Given the description of an element on the screen output the (x, y) to click on. 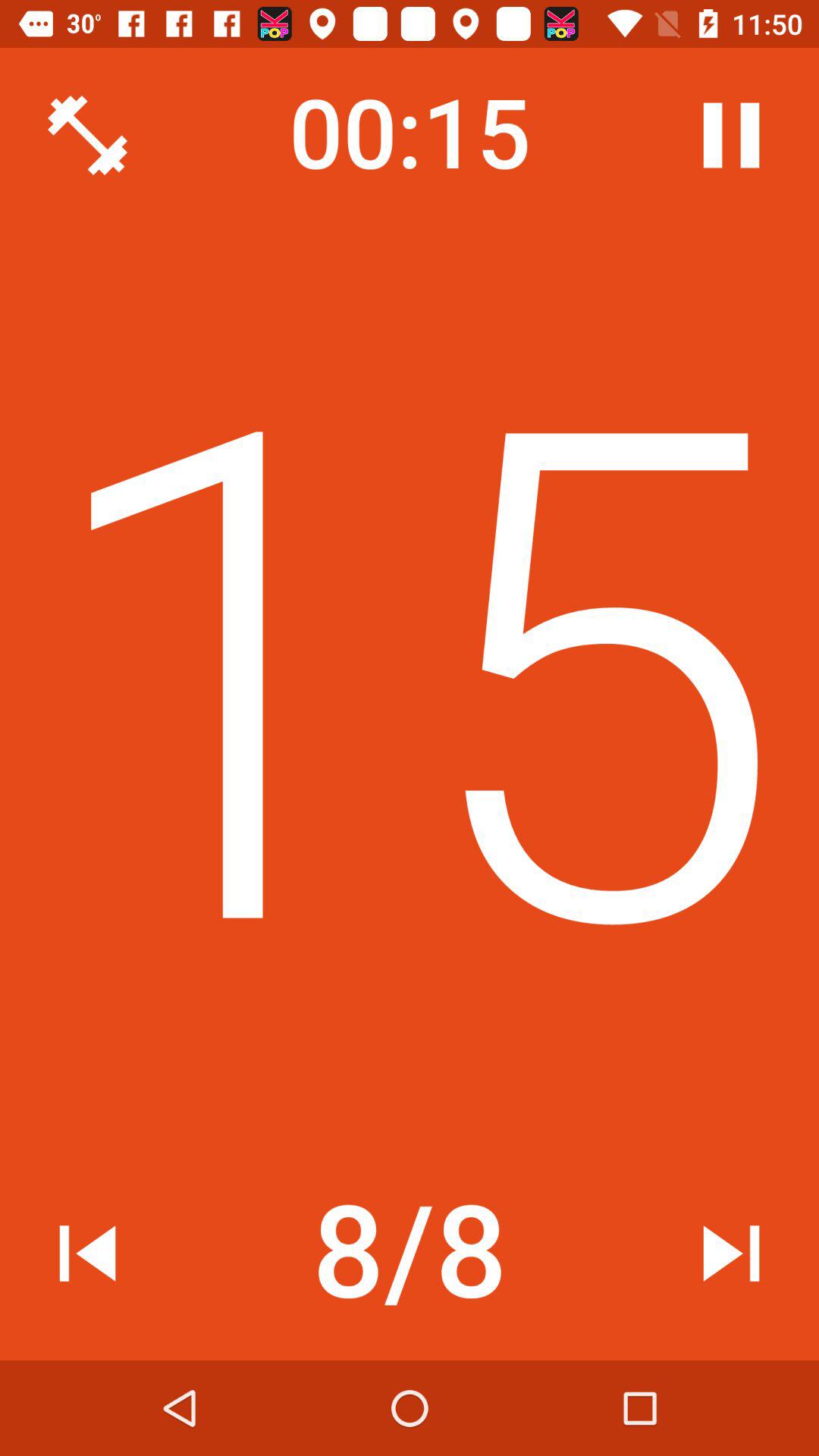
turn off the icon next to the 8/8 icon (731, 1253)
